Given the description of an element on the screen output the (x, y) to click on. 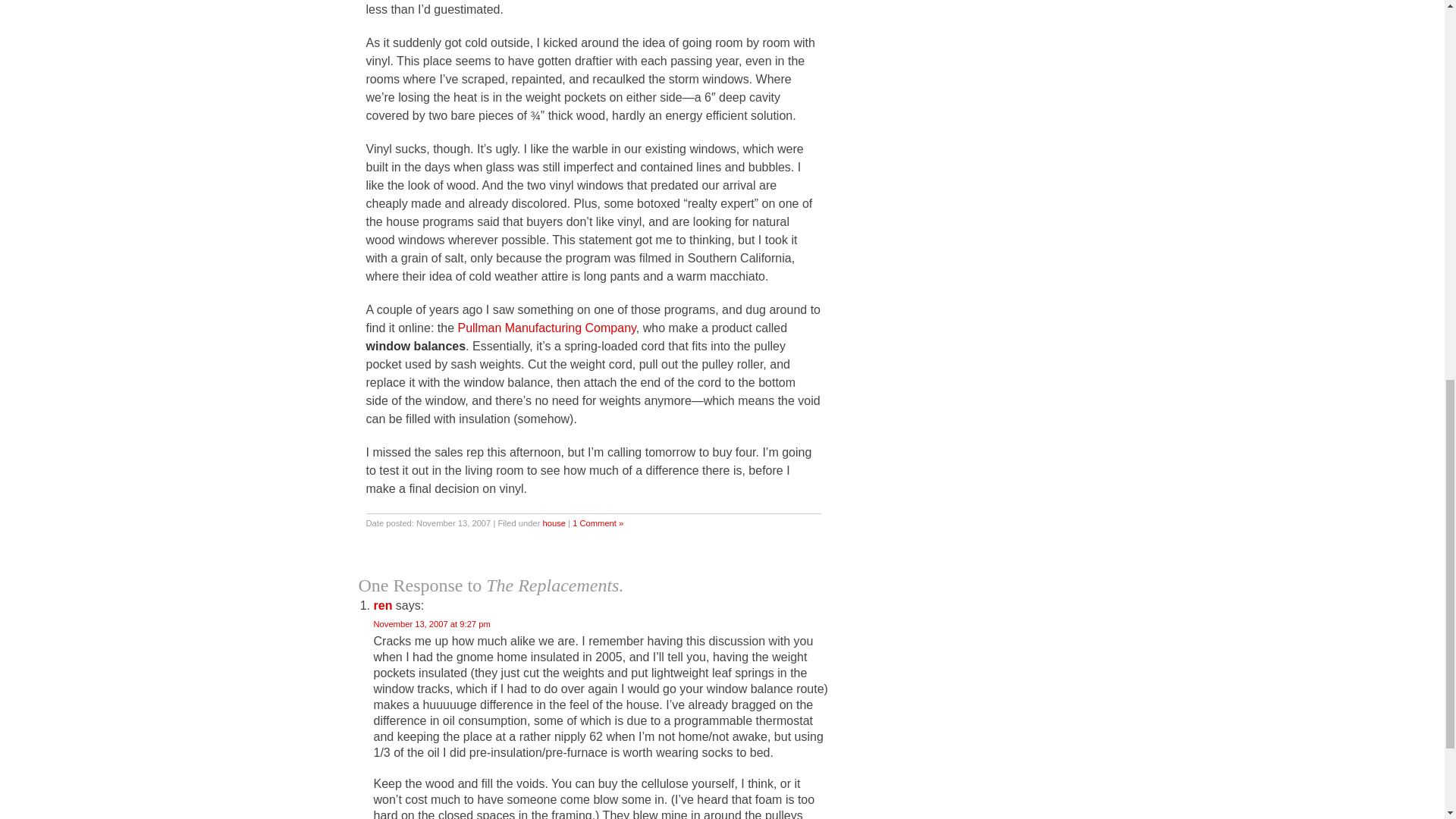
ren (381, 604)
No caption required (974, 421)
November 13, 2007 at 9:27 pm (430, 623)
house (554, 522)
Pullman Manufacturing Company (545, 327)
